Given the description of an element on the screen output the (x, y) to click on. 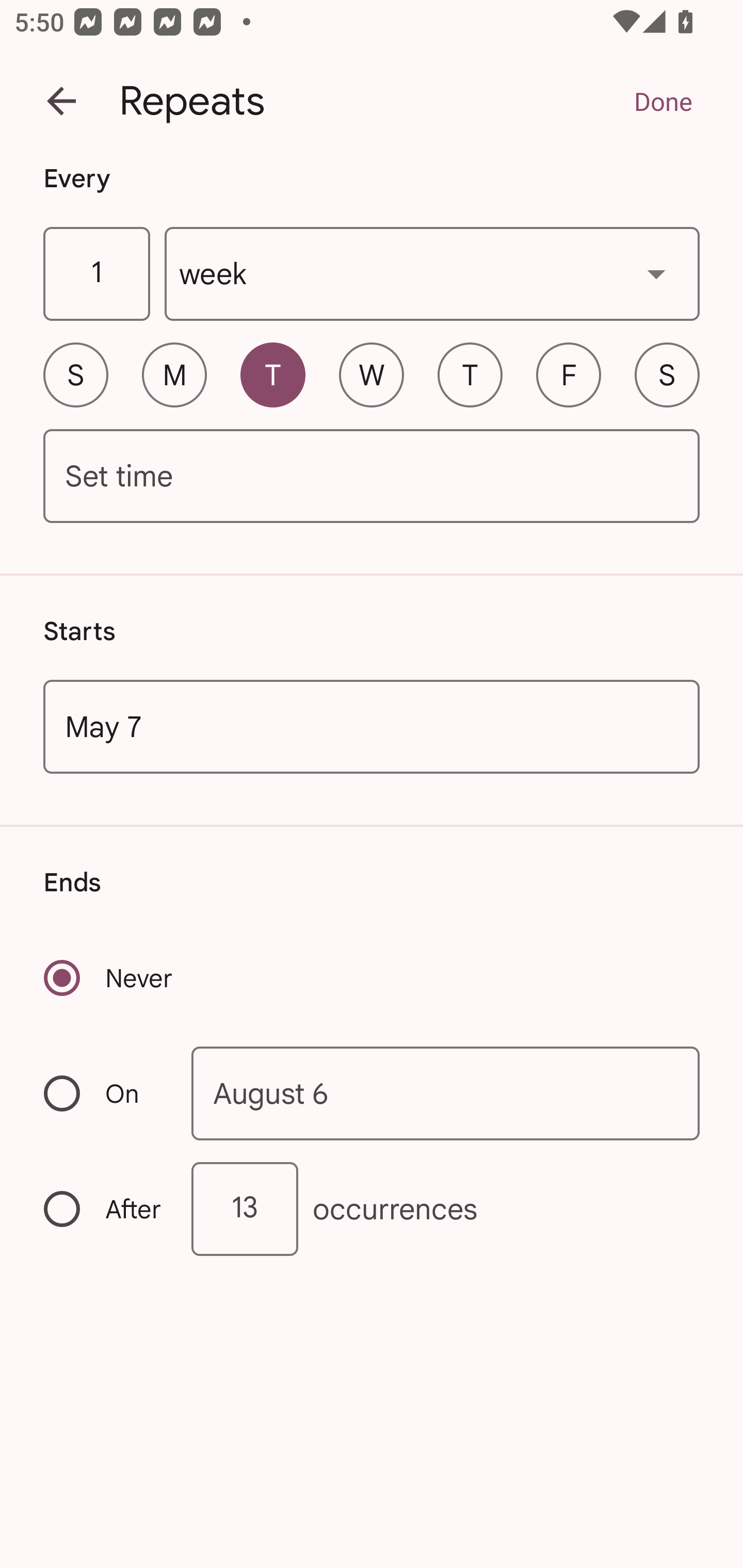
Back (61, 101)
Done (663, 101)
1 (96, 274)
week (431, 274)
Show dropdown menu (655, 273)
S Sunday (75, 374)
M Monday (173, 374)
T Tuesday, selected (272, 374)
W Wednesday (371, 374)
T Thursday (469, 374)
F Friday (568, 374)
S Saturday (666, 374)
Set time (371, 476)
May 7 (371, 726)
Never Recurrence never ends (109, 978)
August 6 (445, 1092)
On Recurrence ends on a specific date (104, 1093)
13 (244, 1208)
